Given the description of an element on the screen output the (x, y) to click on. 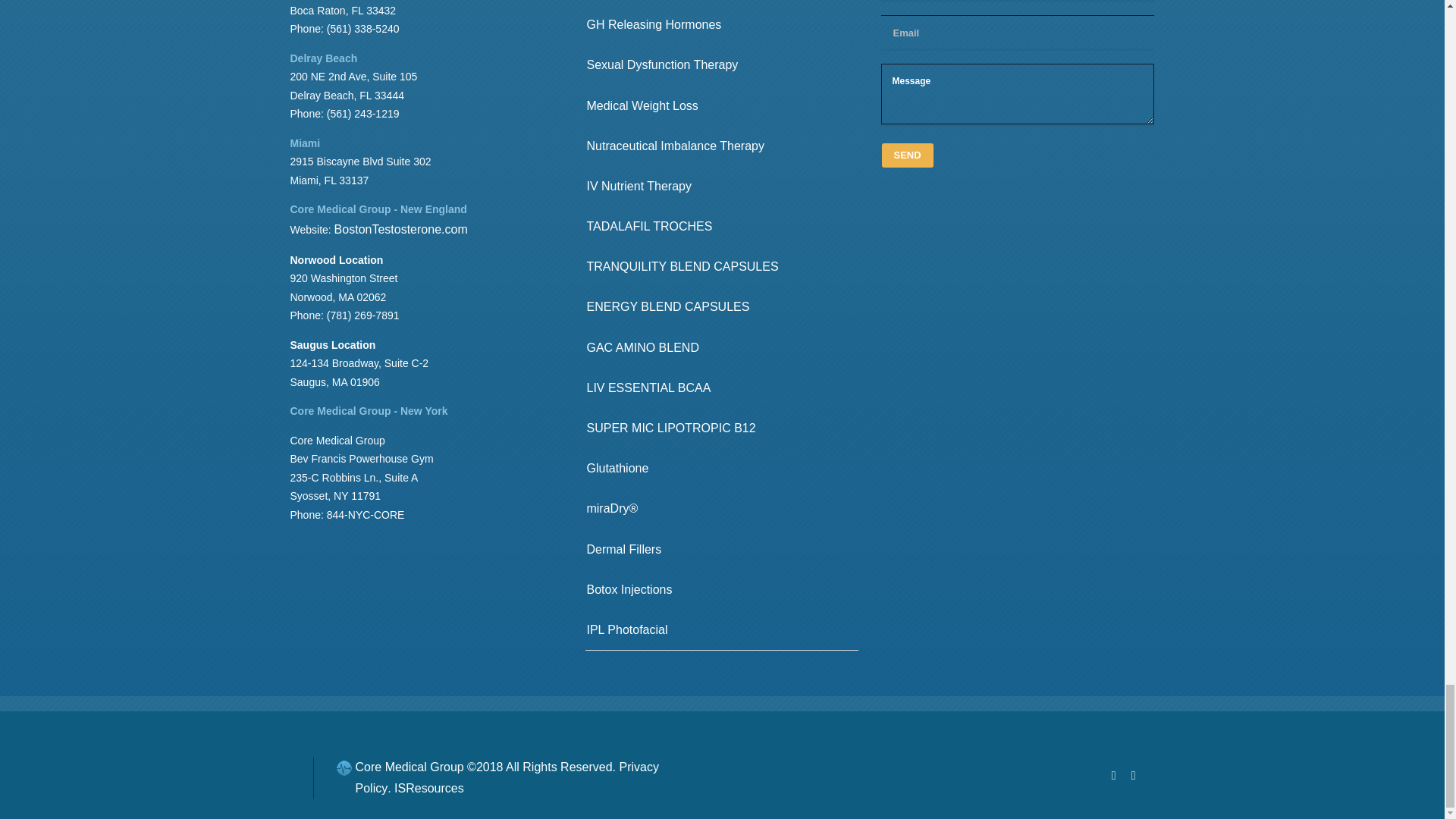
Instagram (1133, 786)
Facebook (1113, 786)
Email (1017, 31)
